Given the description of an element on the screen output the (x, y) to click on. 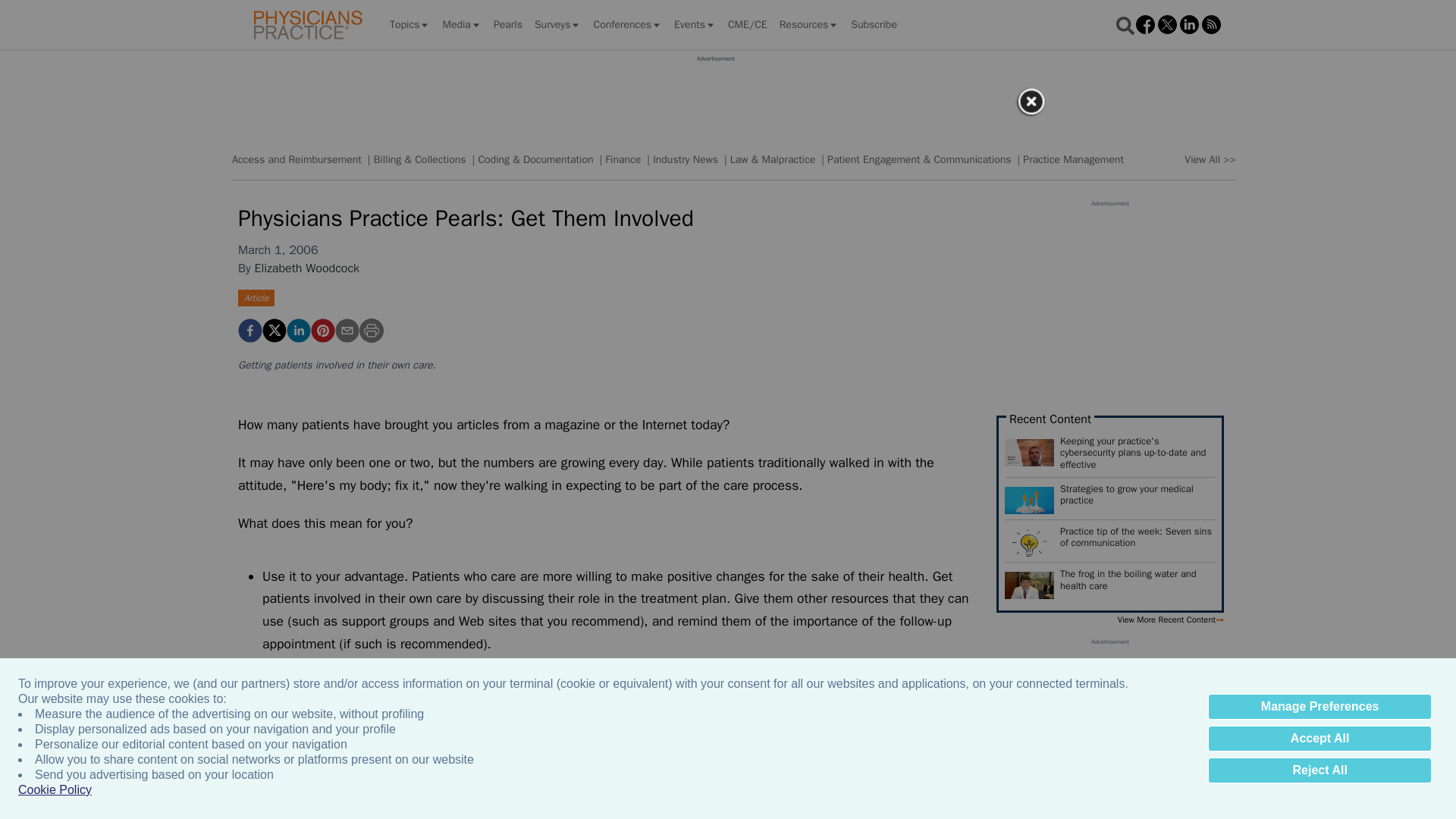
Physicians Practice Pearls: Get Them Involved (322, 330)
Pearls (507, 23)
Physicians Practice Pearls: Get Them Involved (250, 330)
Accept All (1319, 738)
Manage Preferences (1319, 706)
Cookie Policy (54, 789)
3rd party ad content (715, 97)
Subscribe (873, 23)
Reject All (1319, 769)
